Given the description of an element on the screen output the (x, y) to click on. 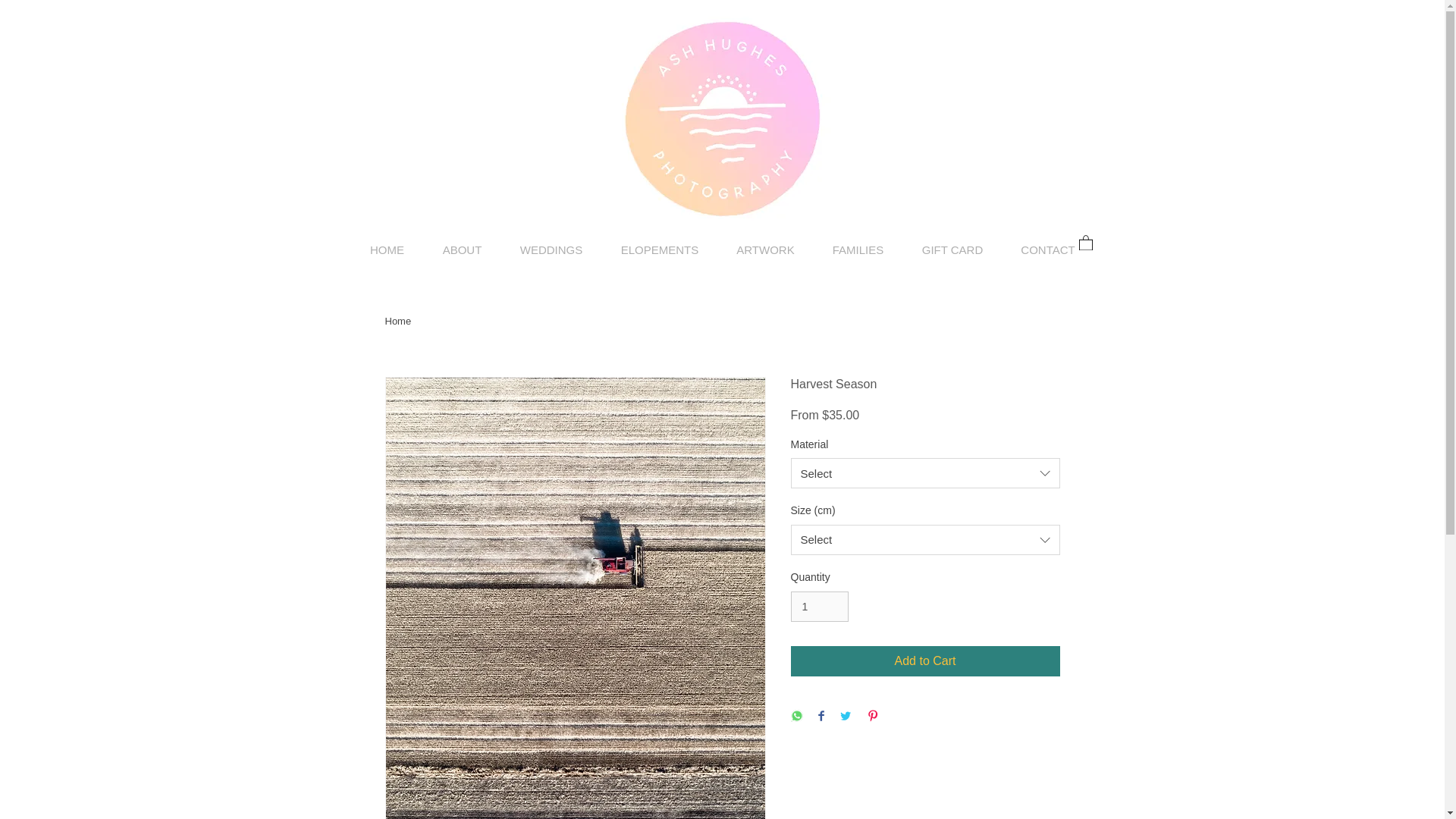
ELOPEMENTS (659, 249)
1 (818, 606)
WEDDINGS (550, 249)
ABOUT (461, 249)
Select (924, 472)
HOME (386, 249)
Select (924, 539)
Home (398, 320)
GIFT CARD (951, 249)
ARTWORK (764, 249)
